Given the description of an element on the screen output the (x, y) to click on. 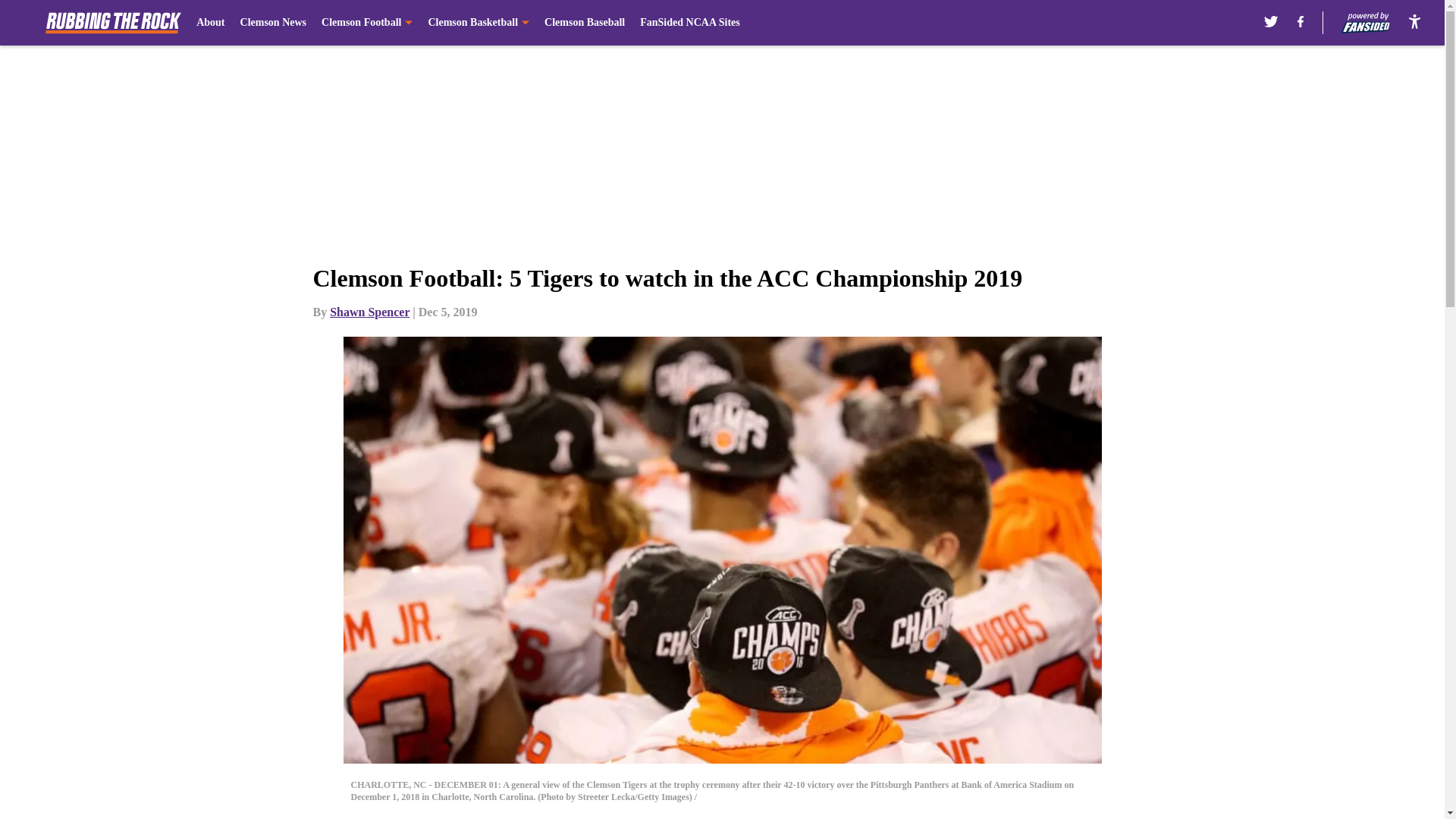
Clemson News (273, 22)
Clemson Baseball (584, 22)
FanSided NCAA Sites (689, 22)
About (210, 22)
Shawn Spencer (369, 311)
